Given the description of an element on the screen output the (x, y) to click on. 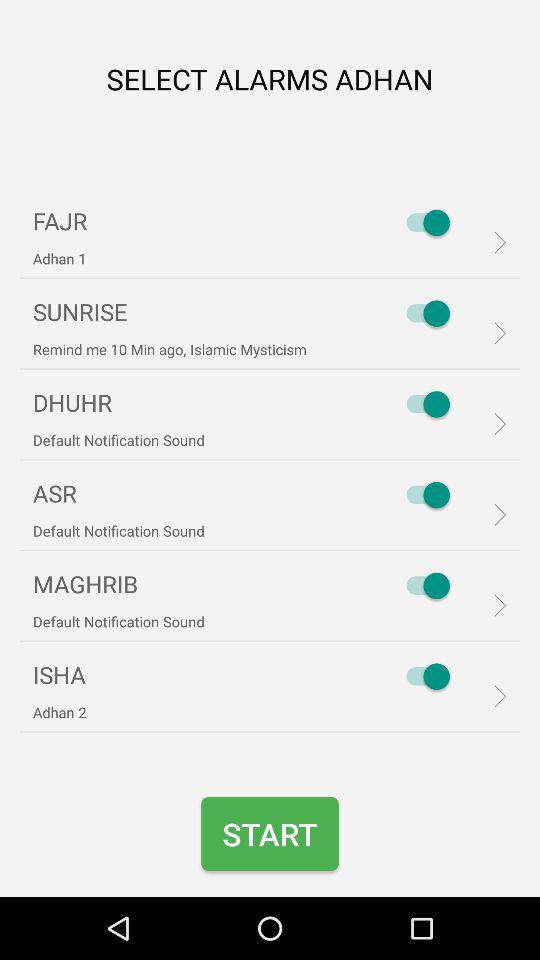
turn on item next to the fajr item (423, 222)
